Given the description of an element on the screen output the (x, y) to click on. 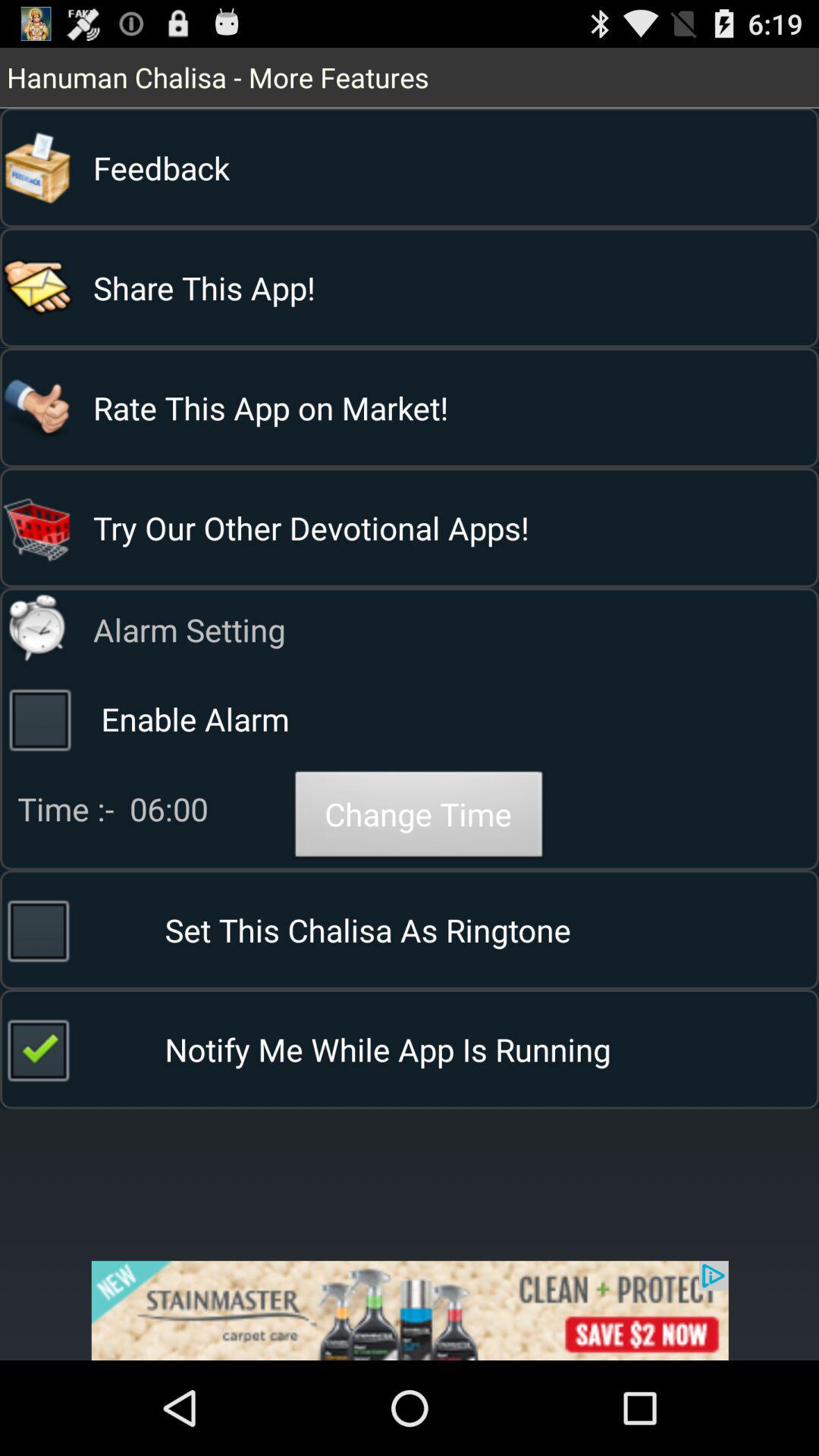
add icone (409, 1310)
